Given the description of an element on the screen output the (x, y) to click on. 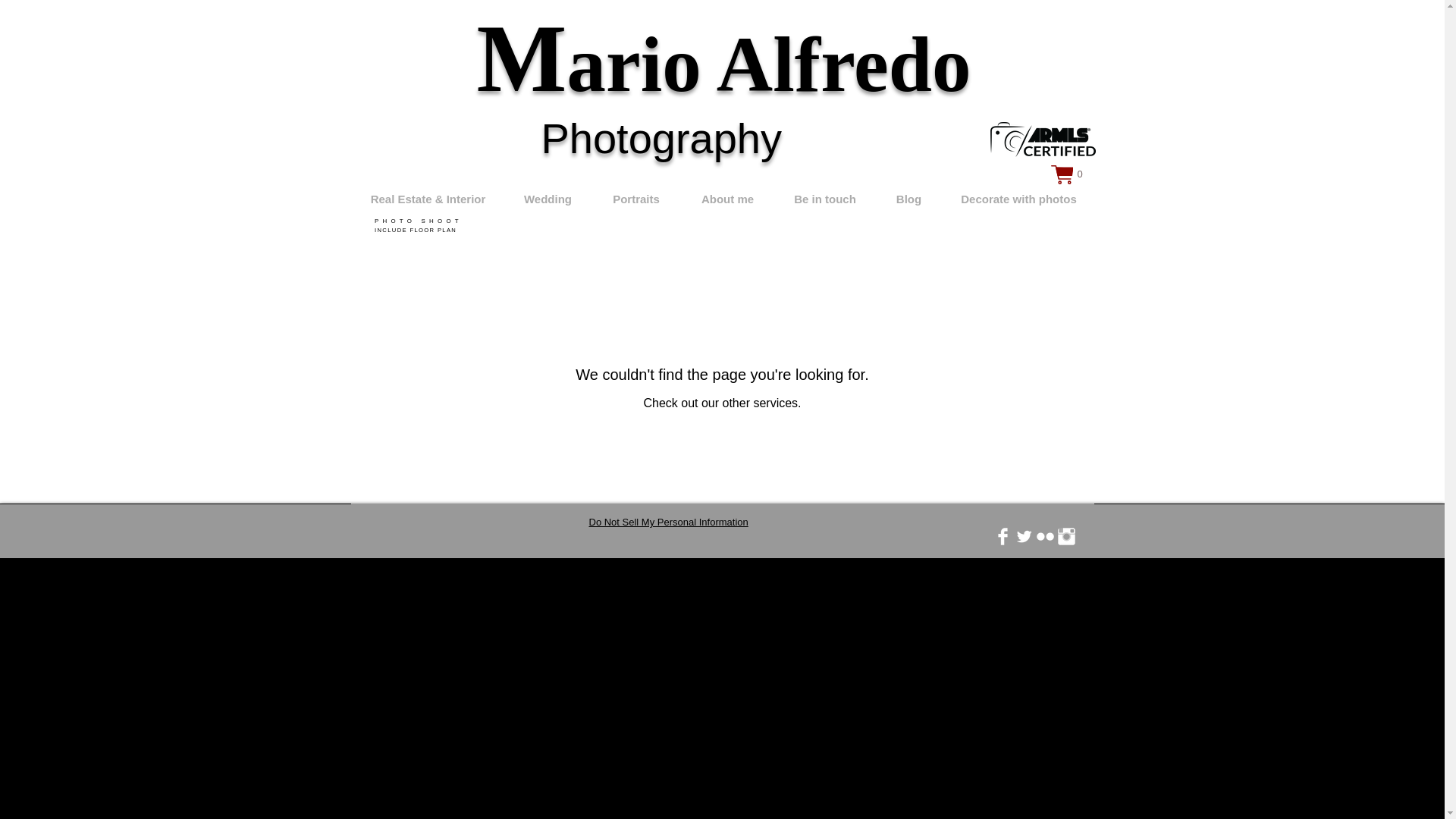
Portraits (635, 198)
Wedding (547, 198)
Certified-black.png (419, 230)
Do Not Sell My Personal Information (1043, 139)
Be in touch (420, 221)
About me (668, 522)
Decorate with photos (825, 198)
Blog (727, 198)
